Given the description of an element on the screen output the (x, y) to click on. 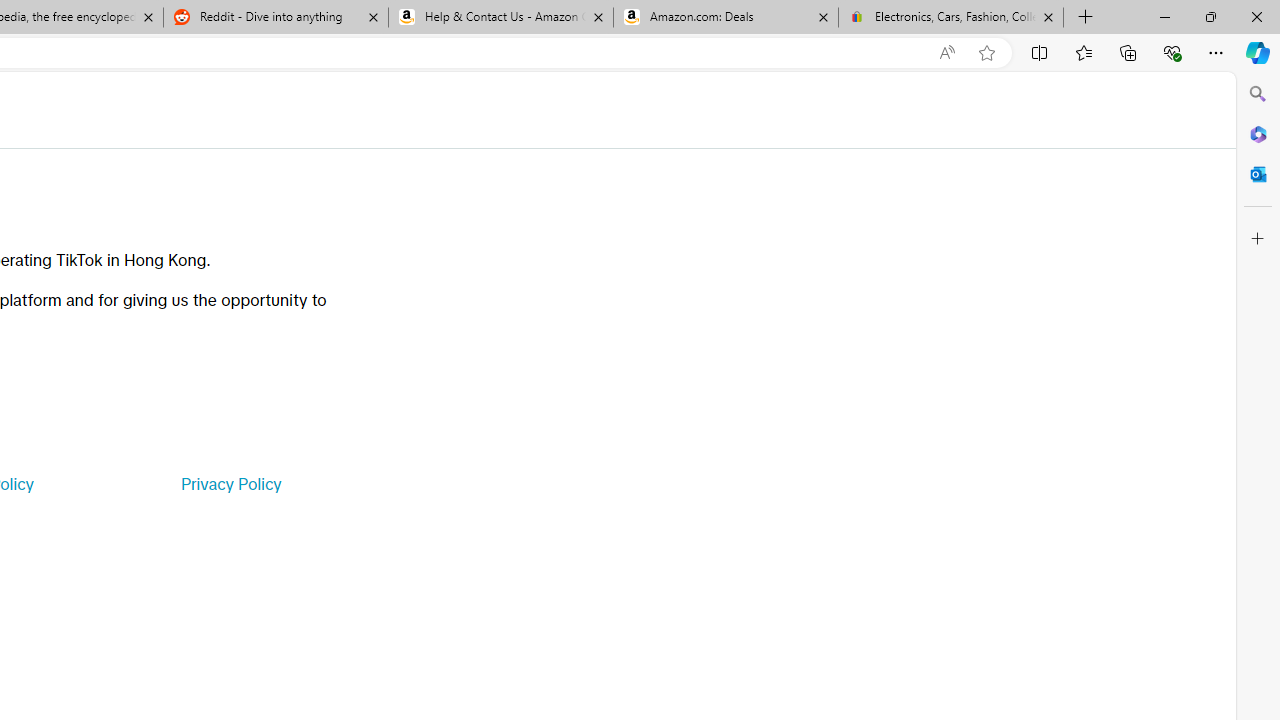
Privacy Policy (230, 484)
